Given the description of an element on the screen output the (x, y) to click on. 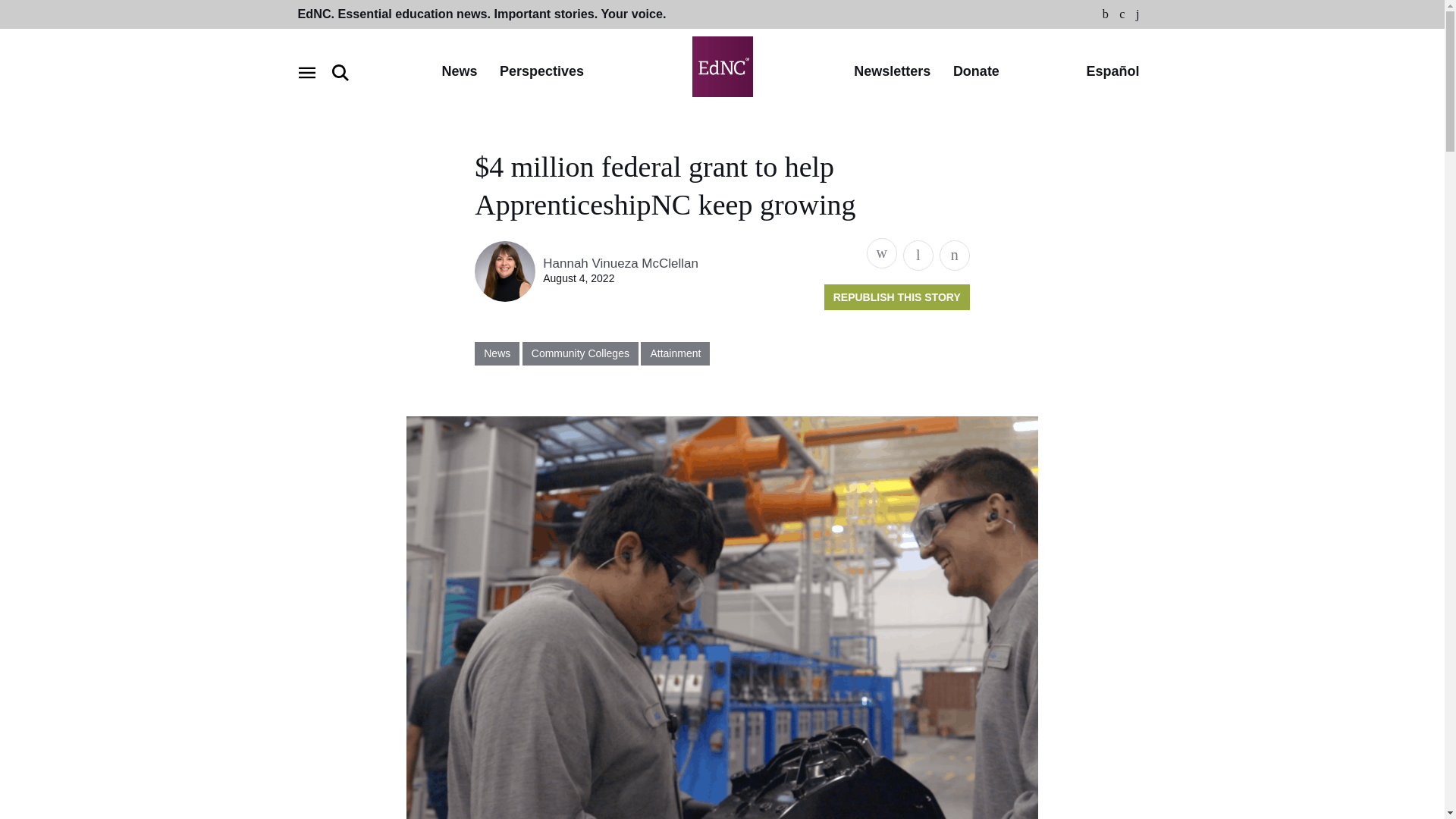
Share this page (881, 253)
Hannah Vinueza McClellan (620, 263)
Donate (975, 71)
Open navigation (306, 72)
Perspectives (541, 71)
Newsletters (891, 71)
News (459, 71)
